Given the description of an element on the screen output the (x, y) to click on. 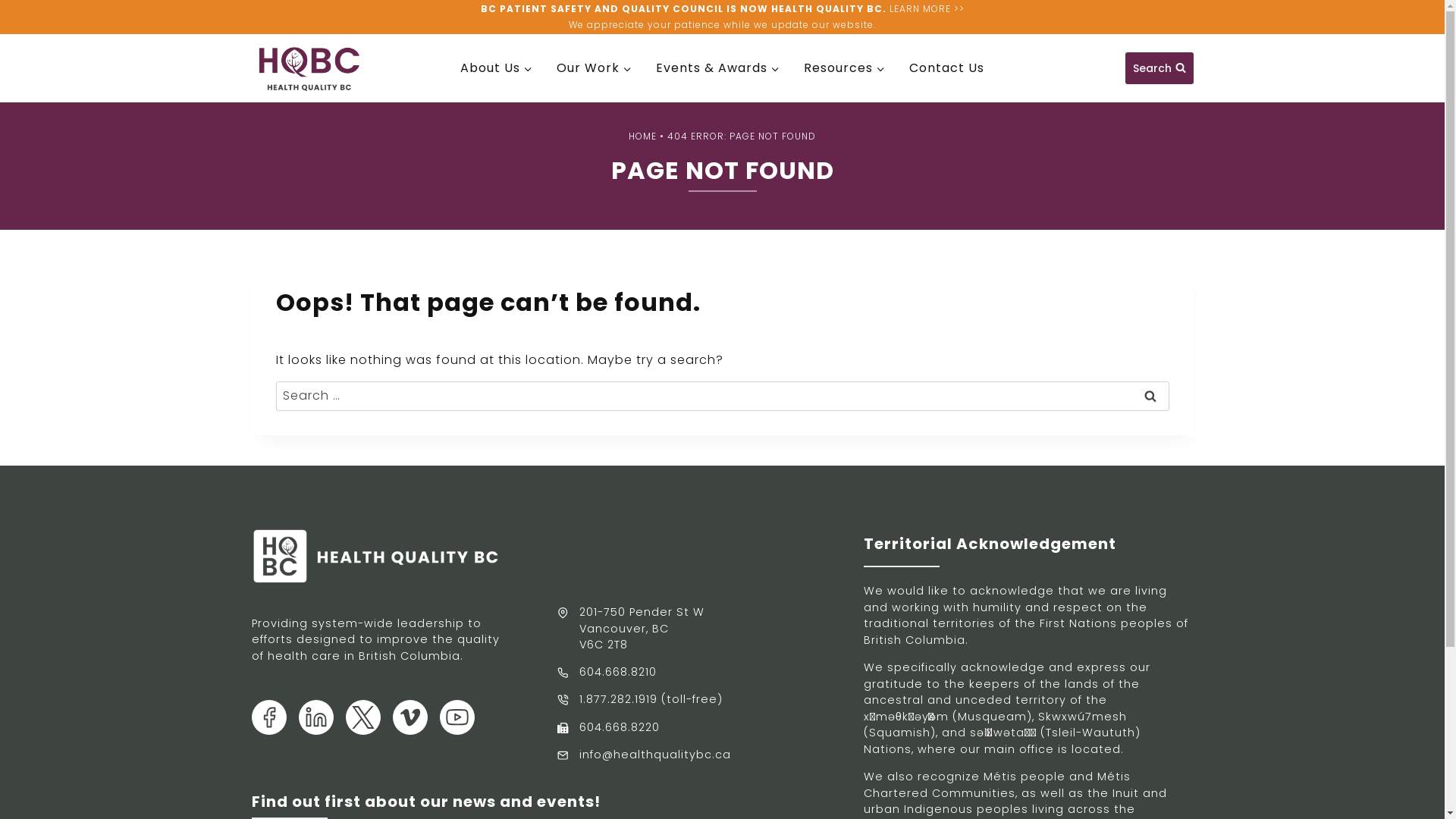
info@healthqualitybc.ca Element type: text (643, 754)
HOME Element type: text (642, 135)
Resources Element type: text (844, 68)
604.668.8210 Element type: text (606, 672)
1.877.282.1919 (toll-free) Element type: text (639, 699)
About Us Element type: text (496, 68)
Search Element type: text (1159, 68)
Contact Us Element type: text (946, 68)
Events & Awards Element type: text (717, 68)
Our Work Element type: text (593, 68)
Search Element type: text (1150, 396)
